Given the description of an element on the screen output the (x, y) to click on. 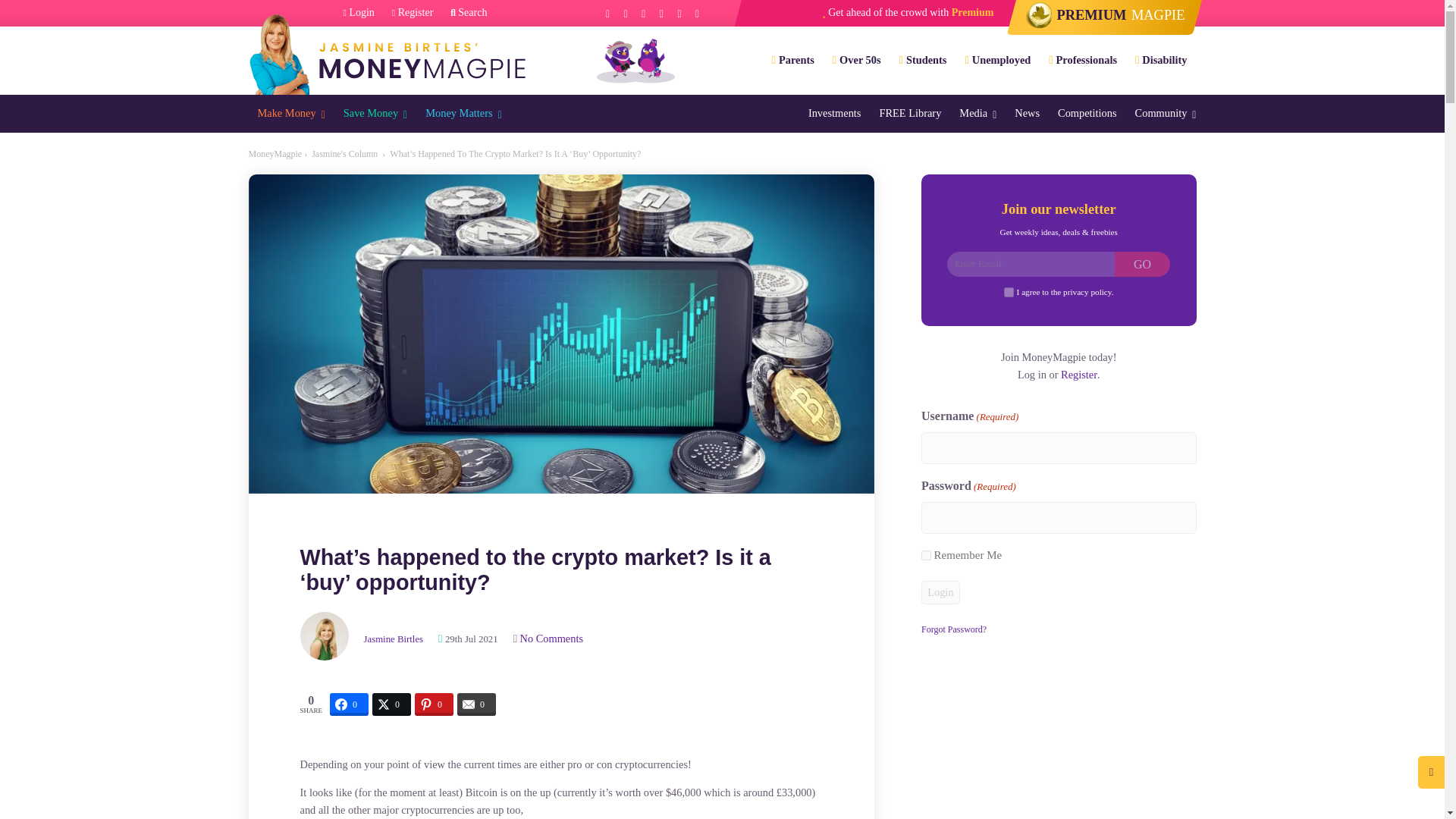
Go to Jasmine's column. (344, 153)
Share on Twitter (391, 703)
Share on Facebook (349, 703)
Go to MoneyMagpie. (275, 153)
Share on Email (476, 703)
1 (926, 555)
Share on Pinterest (433, 703)
Search (467, 12)
Login (358, 12)
Register (412, 12)
Login (940, 592)
1 (1008, 292)
